Given the description of an element on the screen output the (x, y) to click on. 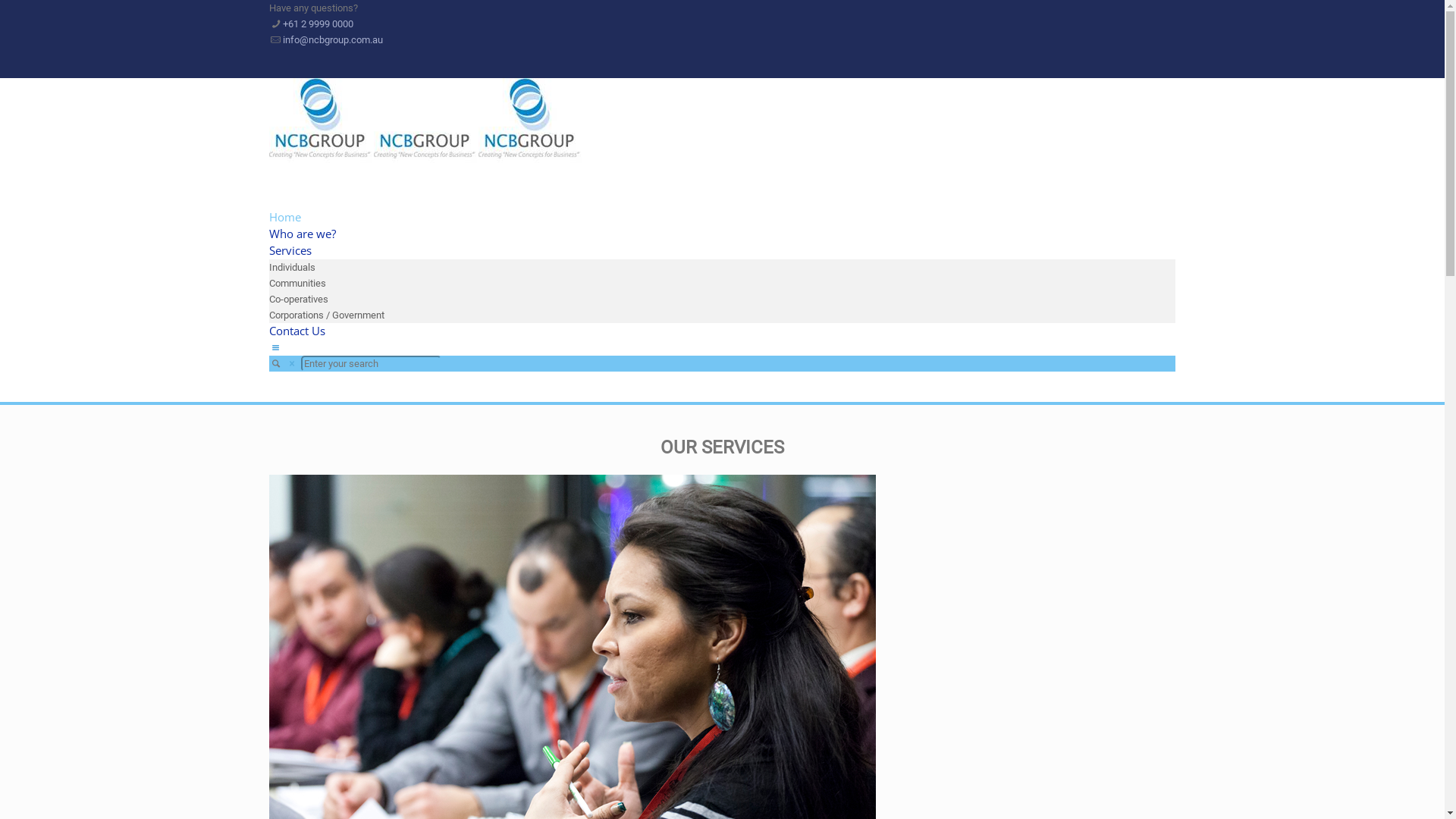
Corporations / Government Element type: text (326, 314)
info@ncbgroup.com.au Element type: text (332, 39)
Contact Us Element type: text (297, 330)
Communities Element type: text (297, 282)
+61 2 9999 0000 Element type: text (317, 23)
Individuals Element type: text (292, 267)
Home Element type: text (285, 216)
Co-operatives Element type: text (298, 298)
Services Element type: text (290, 249)
NCB Group Element type: hover (426, 155)
Who are we? Element type: text (302, 233)
